Given the description of an element on the screen output the (x, y) to click on. 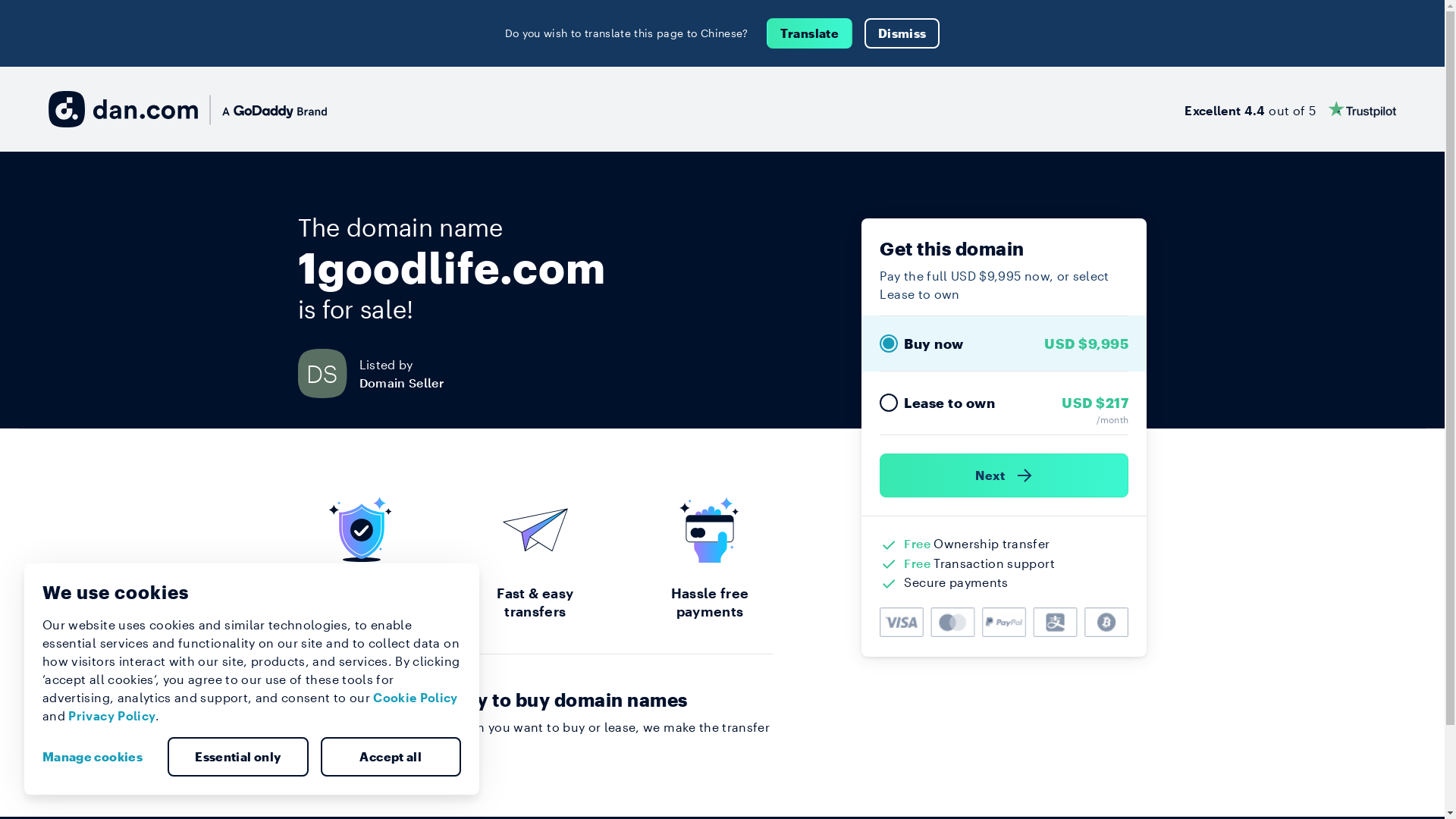
Translate Element type: text (809, 33)
Privacy Policy Element type: text (111, 715)
Cookie Policy Element type: text (415, 697)
Excellent 4.4 out of 5 Element type: text (1290, 109)
Dismiss Element type: text (901, 33)
Manage cookies Element type: text (98, 756)
Essential only Element type: text (237, 756)
Accept all Element type: text (390, 756)
Next
) Element type: text (1003, 475)
